Given the description of an element on the screen output the (x, y) to click on. 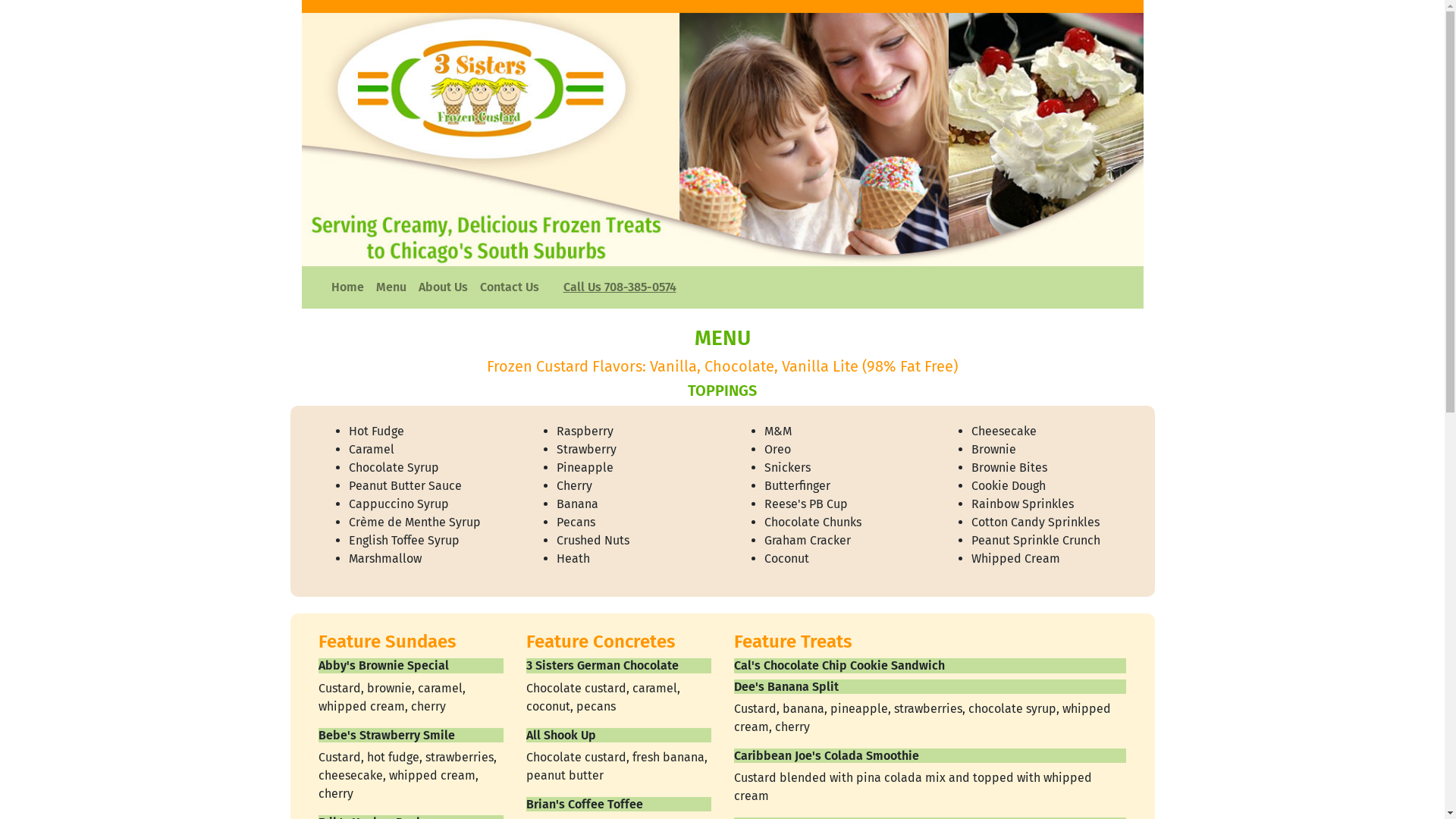
Contact Us Element type: text (508, 287)
Menu Element type: text (391, 287)
About Us Element type: text (442, 287)
Call Us 708-385-0574 Element type: text (618, 287)
Home Element type: text (346, 287)
